Given the description of an element on the screen output the (x, y) to click on. 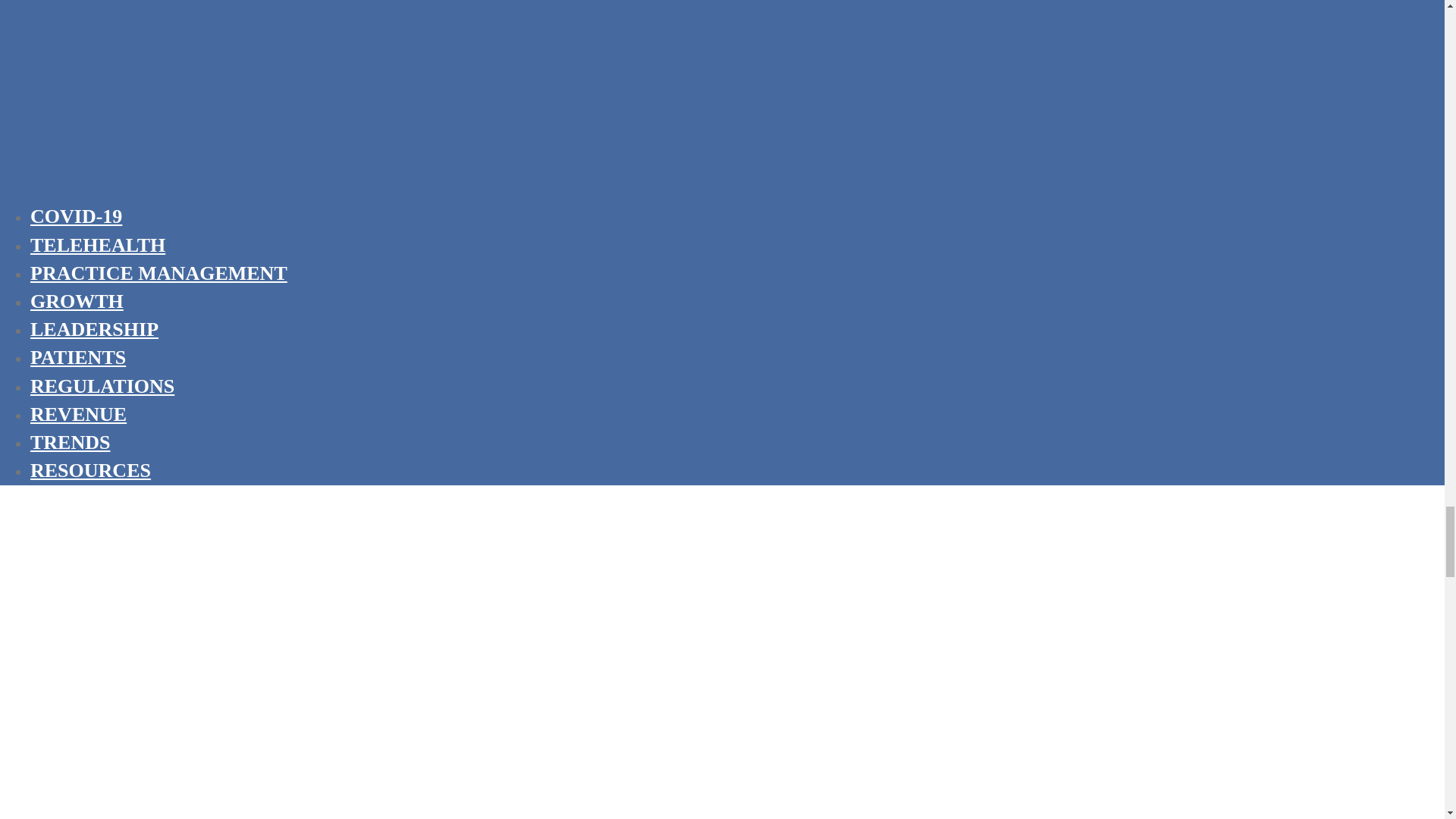
RESOURCES (90, 470)
TELEHEALTH (97, 244)
PRACTICE MANAGEMENT (158, 272)
REGULATIONS (102, 385)
LEADERSHIP (94, 329)
REVENUE (78, 414)
COVID-19 (76, 216)
TRENDS (70, 442)
PATIENTS (77, 357)
GROWTH (76, 301)
